Given the description of an element on the screen output the (x, y) to click on. 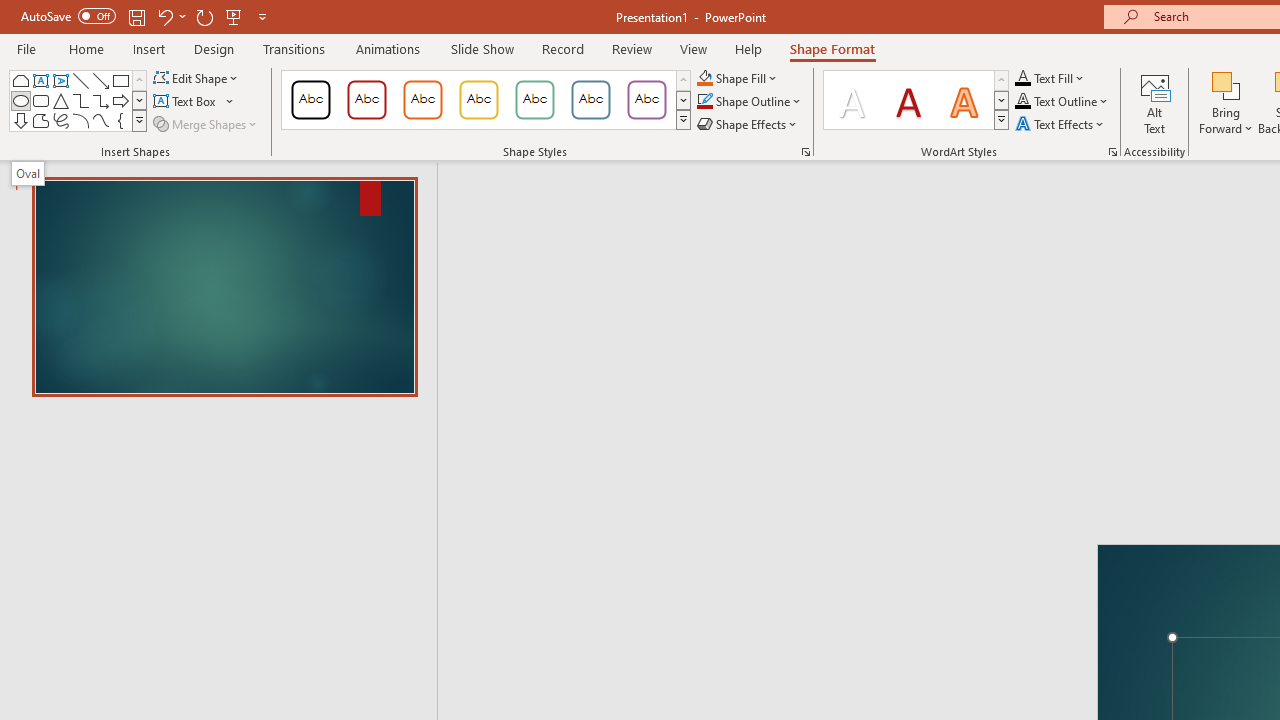
Isosceles Triangle (60, 100)
Left Brace (120, 120)
Shape Outline (749, 101)
Oval (20, 100)
Fill: White, Text color 1; Shadow (852, 100)
